Given the description of an element on the screen output the (x, y) to click on. 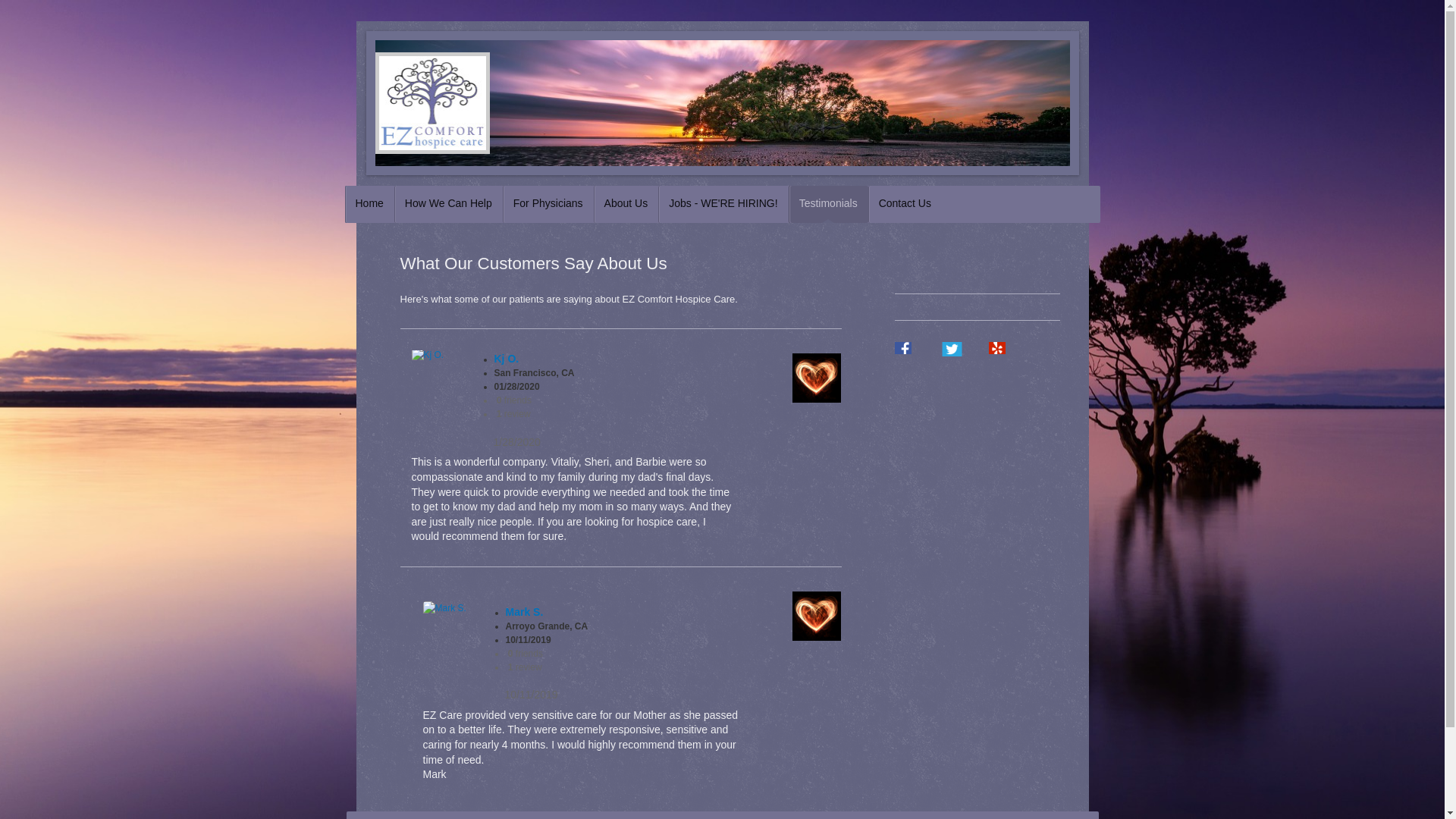
About Us (626, 203)
Contact Us (904, 203)
5.0 star rating (448, 440)
Mark S. (524, 612)
Testimonials (828, 203)
How We Can Help (448, 203)
Jobs - WE'RE HIRING! (722, 203)
5.0 star rating (461, 694)
Kj O. (507, 358)
Home (368, 203)
